Given the description of an element on the screen output the (x, y) to click on. 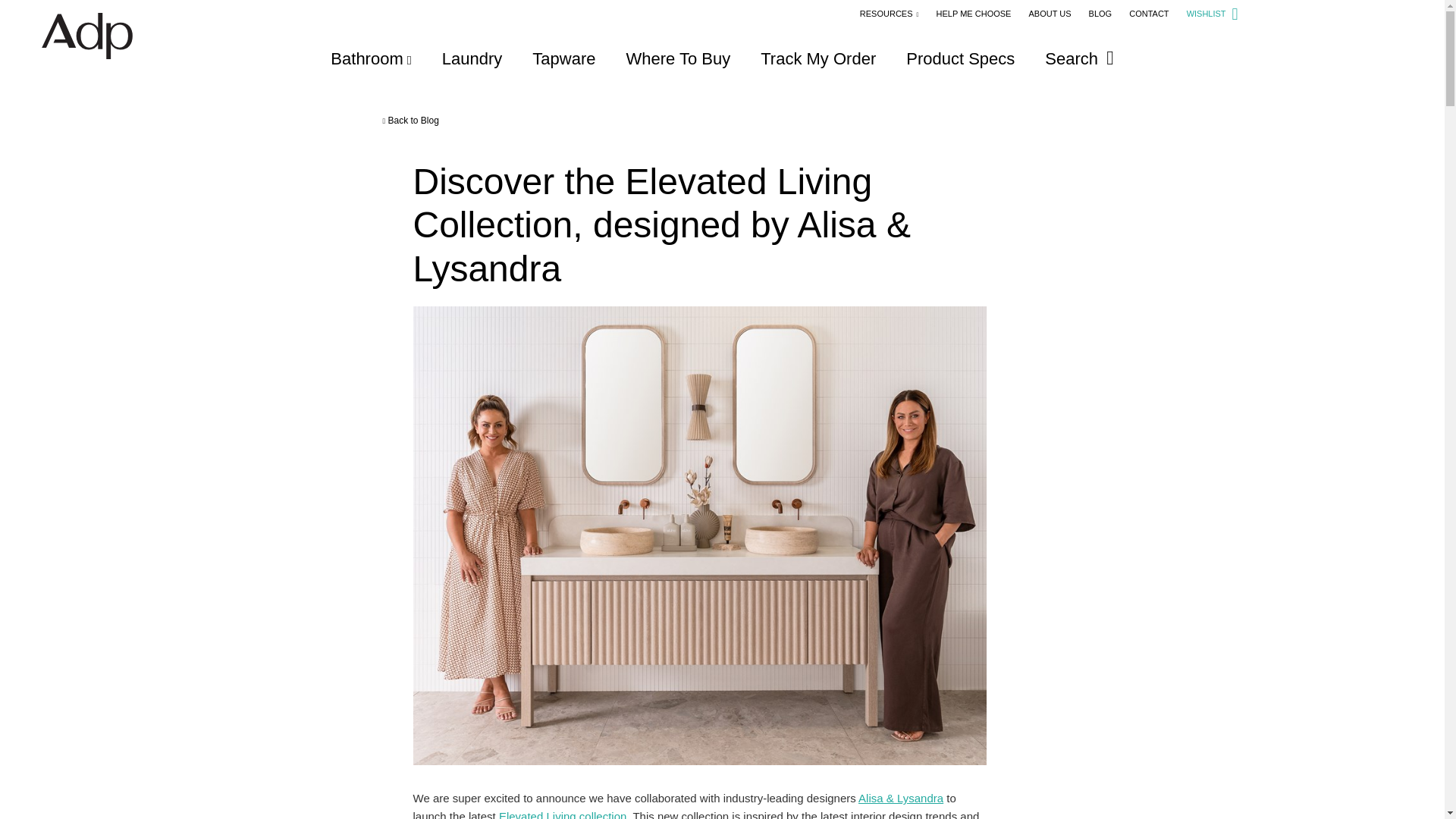
HELP ME CHOOSE (973, 13)
Product Specs (959, 58)
Bathroom (370, 58)
Search (1079, 58)
Elevated Living (562, 814)
Tapware (563, 58)
WISHLIST (1212, 13)
Track My Order (818, 58)
Laundry (472, 58)
Where To Buy (678, 58)
ABOUT US (1048, 13)
RESOURCES (889, 13)
BLOG (1100, 13)
CONTACT (1149, 13)
